Given the description of an element on the screen output the (x, y) to click on. 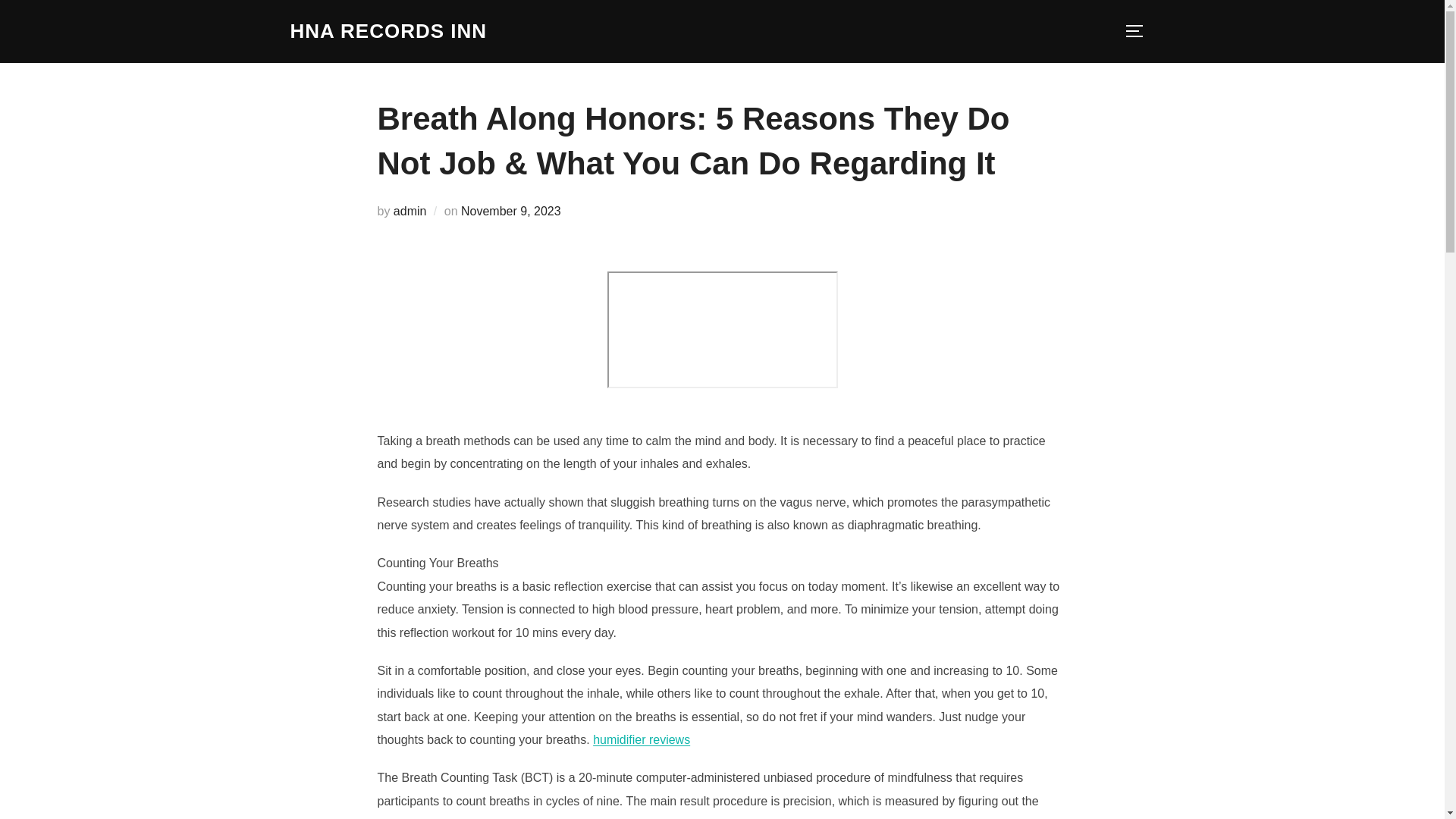
admin (409, 210)
humidifier reviews (641, 739)
November 9, 2023 (510, 210)
My WordPress Blog (387, 31)
HNA RECORDS INN (387, 31)
